Given the description of an element on the screen output the (x, y) to click on. 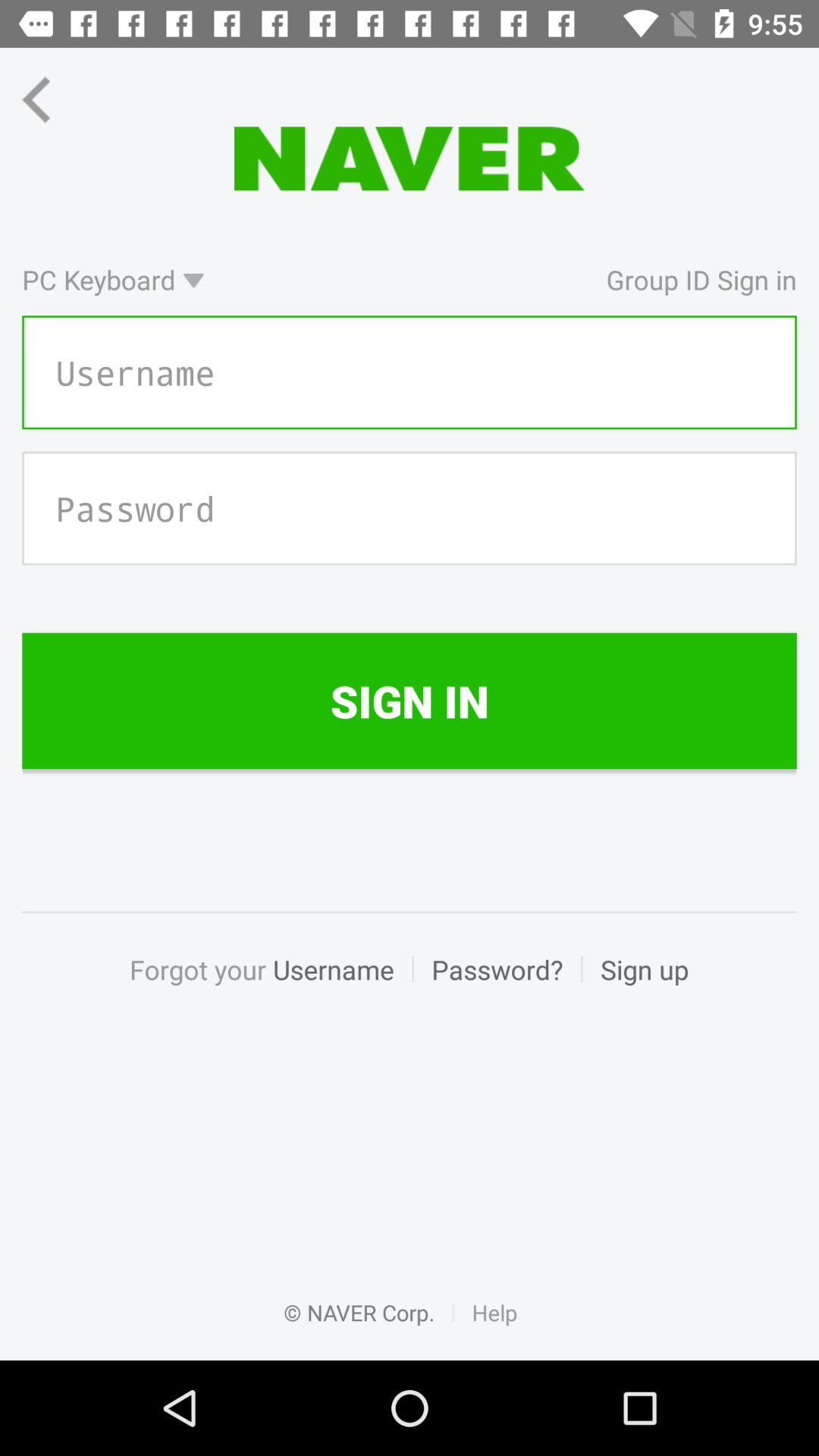
jump to password? item (497, 985)
